Given the description of an element on the screen output the (x, y) to click on. 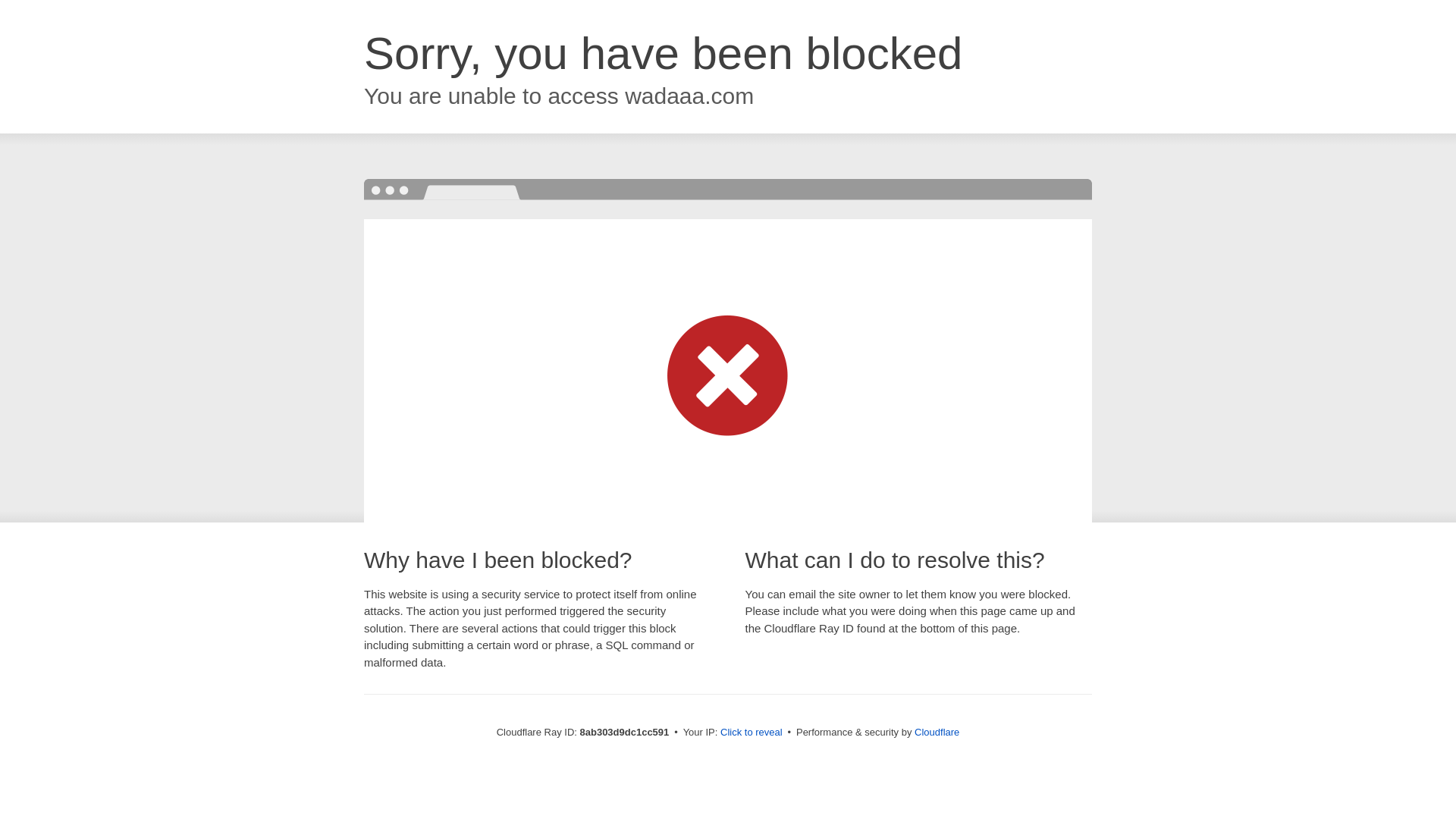
Click to reveal (751, 732)
Cloudflare (936, 731)
